Given the description of an element on the screen output the (x, y) to click on. 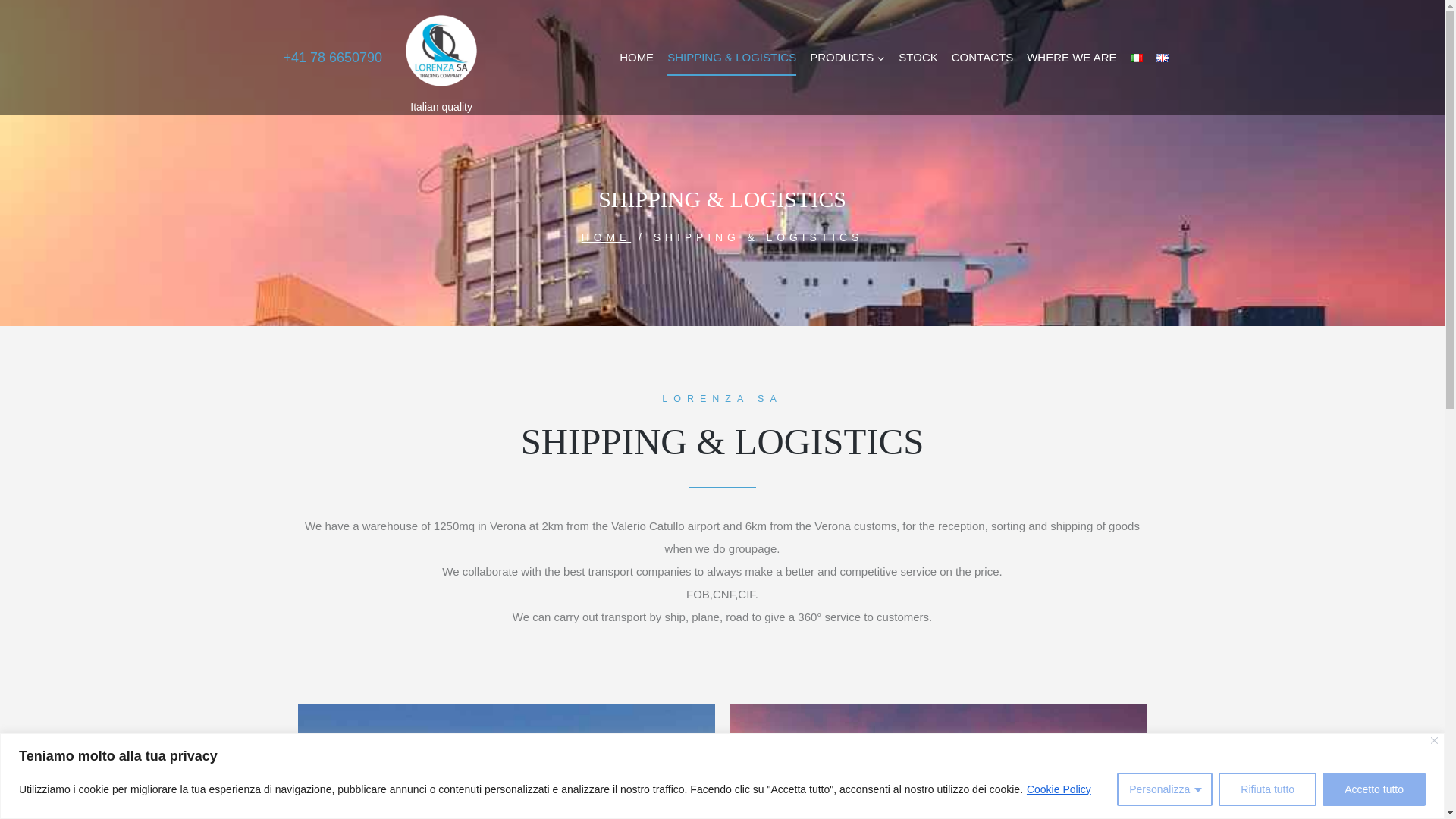
Personalizza (1164, 788)
STOCK (917, 57)
PRODUCTS (847, 57)
WHERE WE ARE (1071, 57)
Cookie Policy (1059, 789)
Rifiuta tutto (1267, 788)
HOME (605, 236)
CONTACTS (982, 57)
HOME (636, 57)
Accetto tutto (1373, 788)
